Given the description of an element on the screen output the (x, y) to click on. 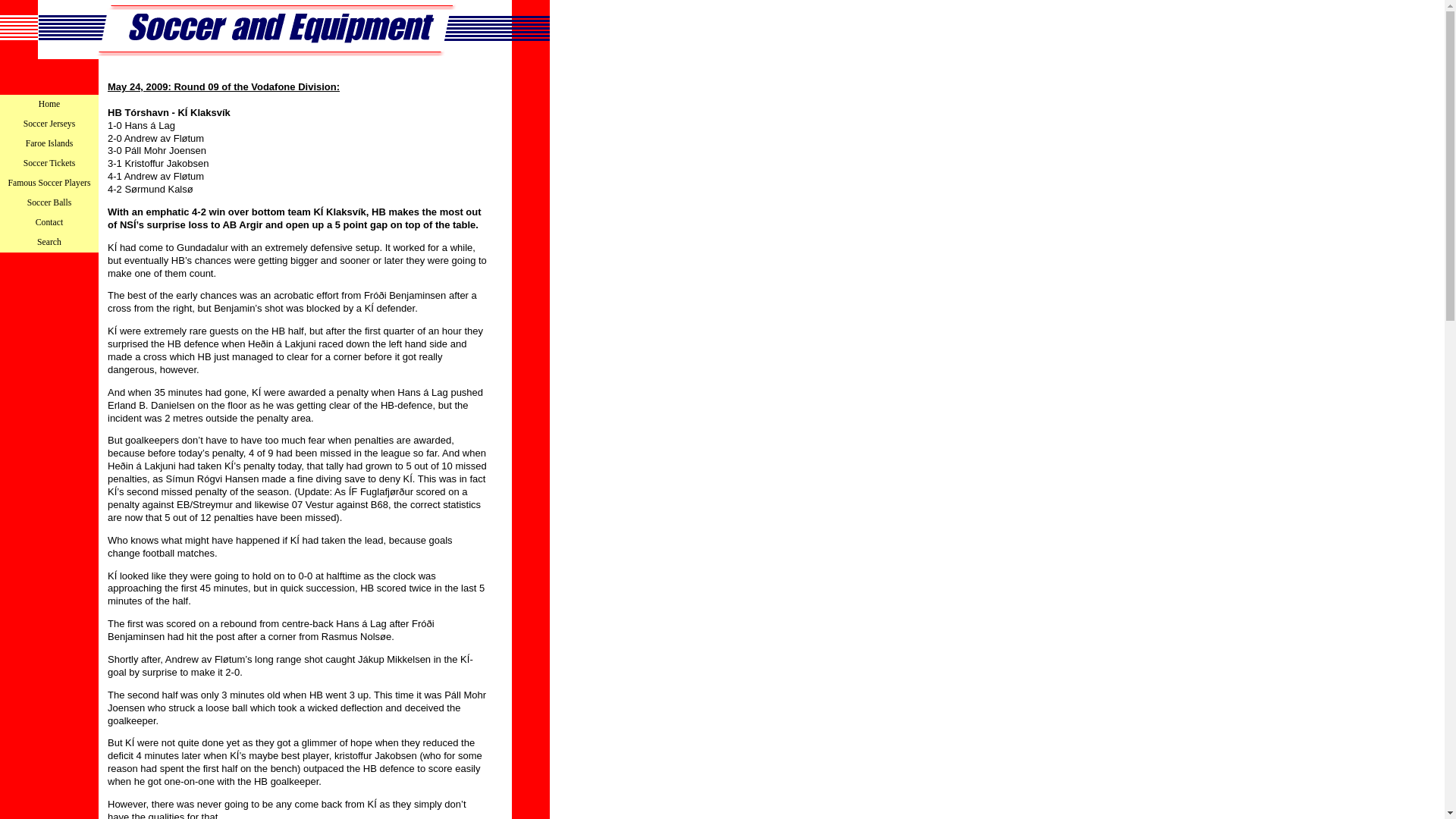
Soccer Jerseys (49, 124)
Soccer Tickets (49, 163)
Famous Soccer Players (49, 183)
Home (49, 104)
Soccer Balls (49, 202)
Search (49, 242)
Contact (49, 222)
